Given the description of an element on the screen output the (x, y) to click on. 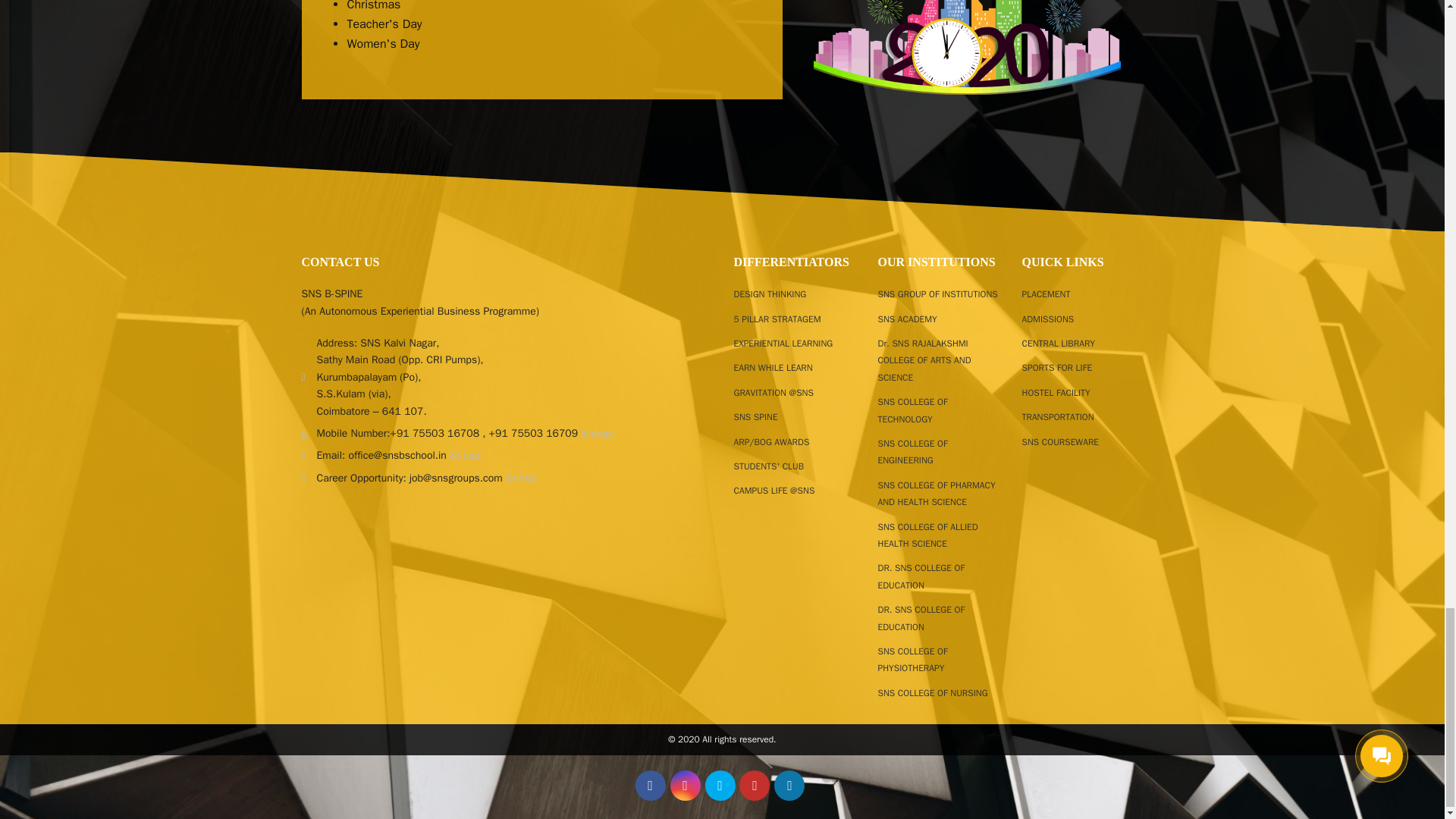
EXPERIENTIAL LEARNING (782, 343)
5 PILLAR STRATAGEM (777, 318)
DESIGN THINKING (769, 294)
Click to edit button (719, 785)
EARN WHILE LEARN (772, 367)
STUDENTS' CLUB (769, 466)
SNS SPINE (755, 417)
